Given the description of an element on the screen output the (x, y) to click on. 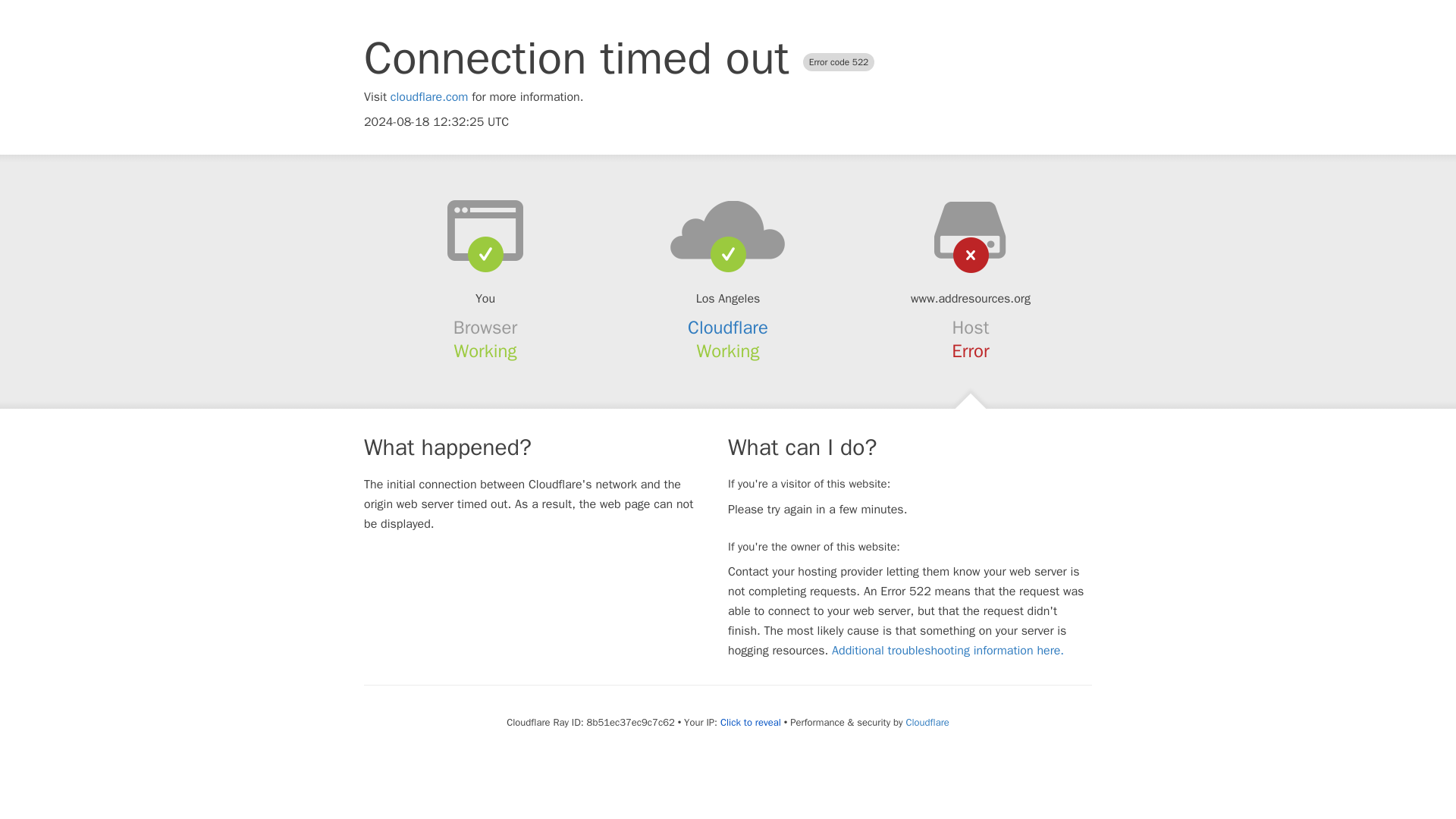
Cloudflare (727, 327)
Cloudflare (927, 721)
cloudflare.com (429, 96)
Additional troubleshooting information here. (947, 650)
Click to reveal (750, 722)
